Given the description of an element on the screen output the (x, y) to click on. 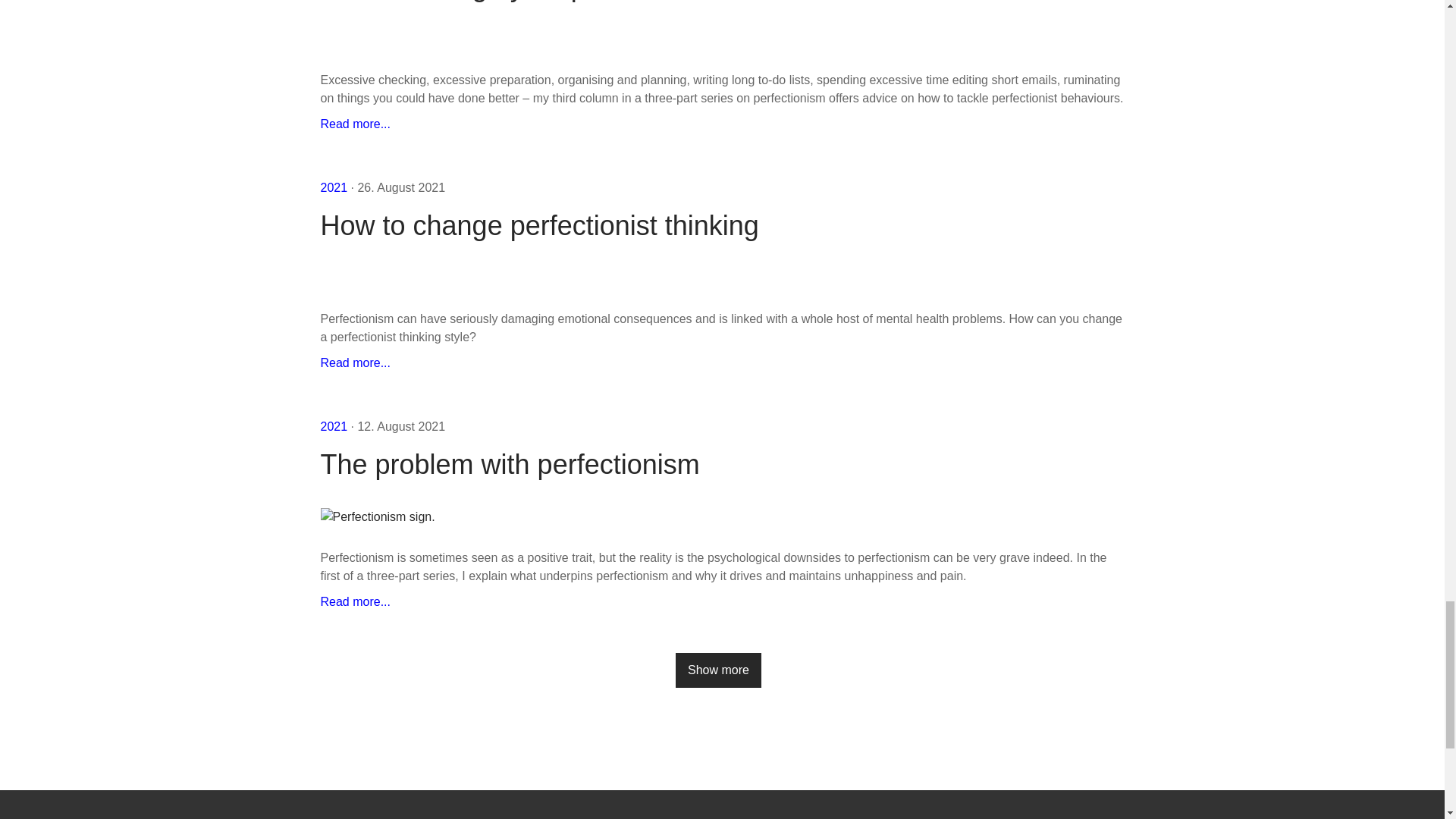
How to change perfectionist thinking (355, 362)
The problem with perfectionism (722, 464)
How to change your perfectionist behaviours (355, 123)
How to change perfectionist thinking (722, 225)
